Given the description of an element on the screen output the (x, y) to click on. 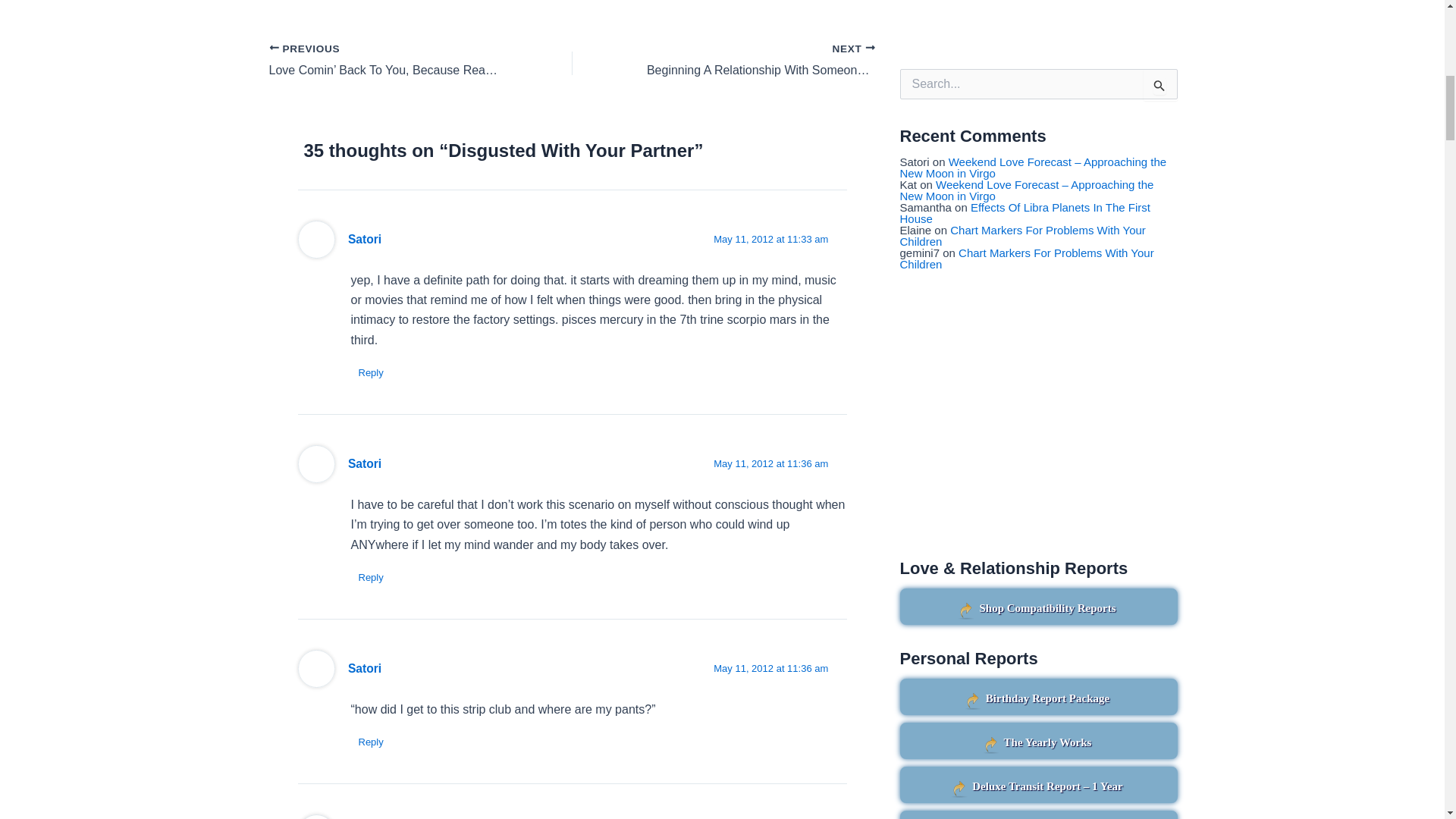
Search (1159, 84)
Search (1159, 84)
Love Comin' Back To You, Because Real Love Never Dies (389, 61)
Beginning A Relationship With Someone You're Obsessed With (753, 61)
